Given the description of an element on the screen output the (x, y) to click on. 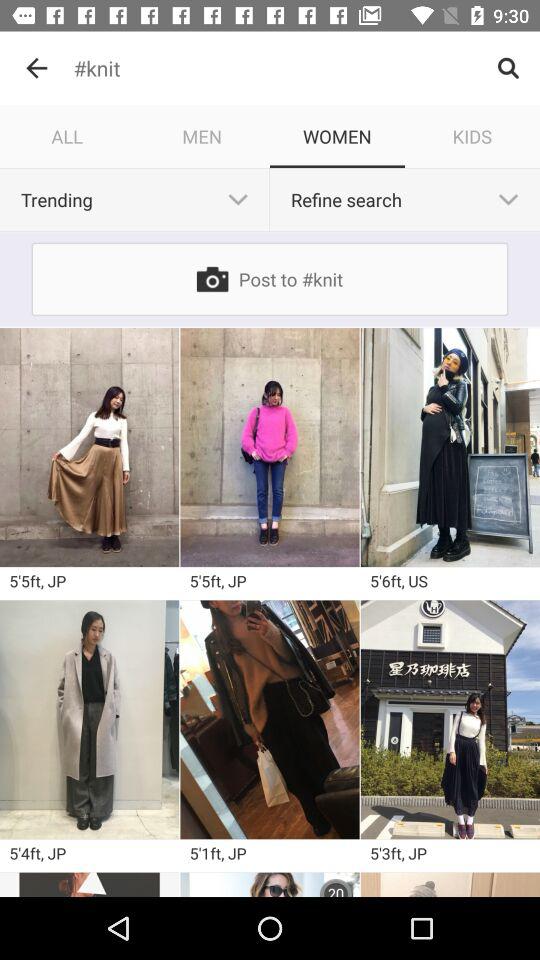
view image (269, 884)
